Given the description of an element on the screen output the (x, y) to click on. 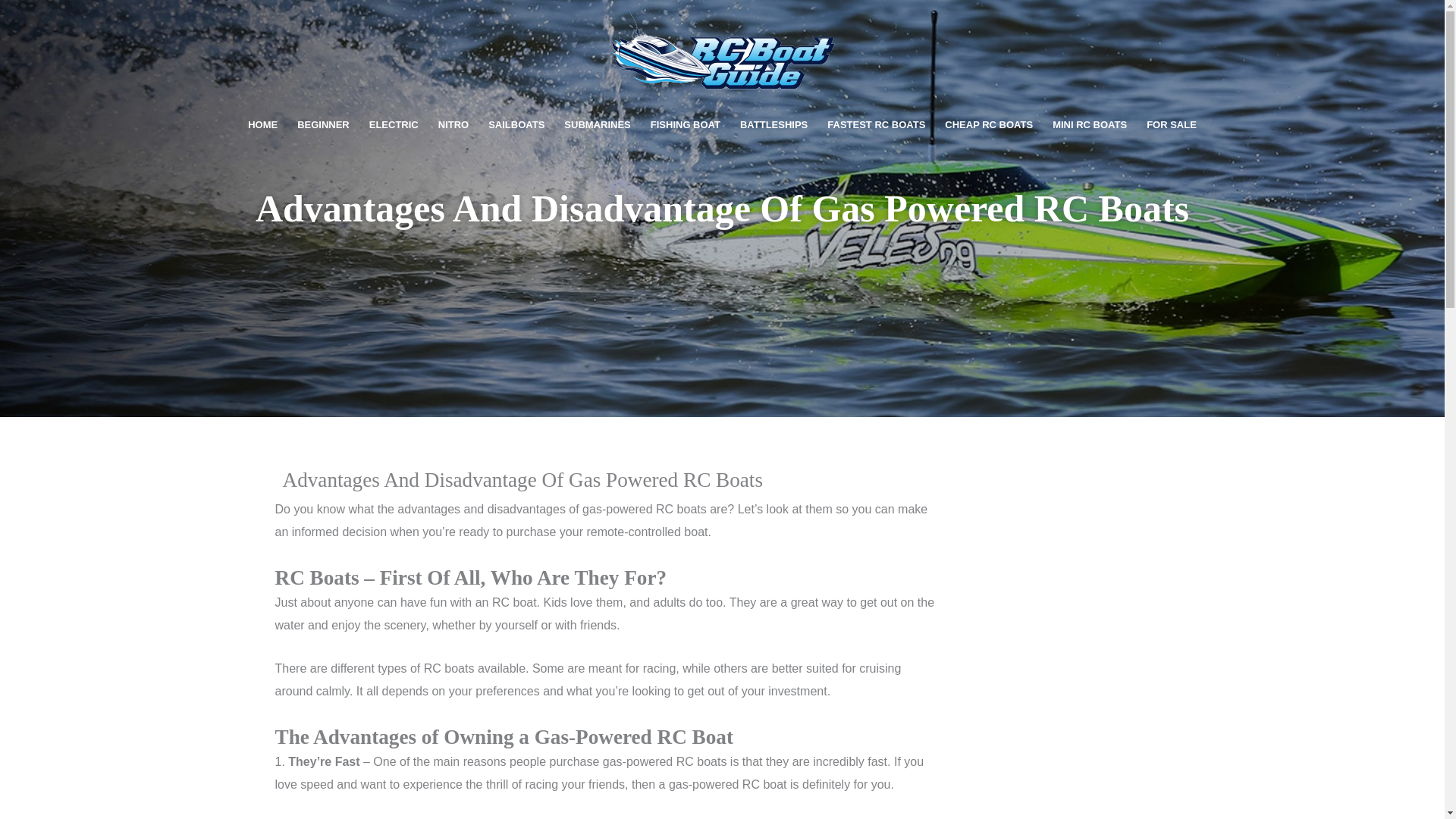
MINI RC BOATS (1089, 125)
BATTLESHIPS (773, 125)
BEGINNER (322, 125)
SAILBOATS (516, 125)
NITRO (453, 125)
HOME (262, 125)
CHEAP RC BOATS (988, 125)
FOR SALE (1172, 125)
SUBMARINES (597, 125)
FASTEST RC BOATS (875, 125)
FISHING BOAT (685, 125)
ELECTRIC (393, 125)
